Given the description of an element on the screen output the (x, y) to click on. 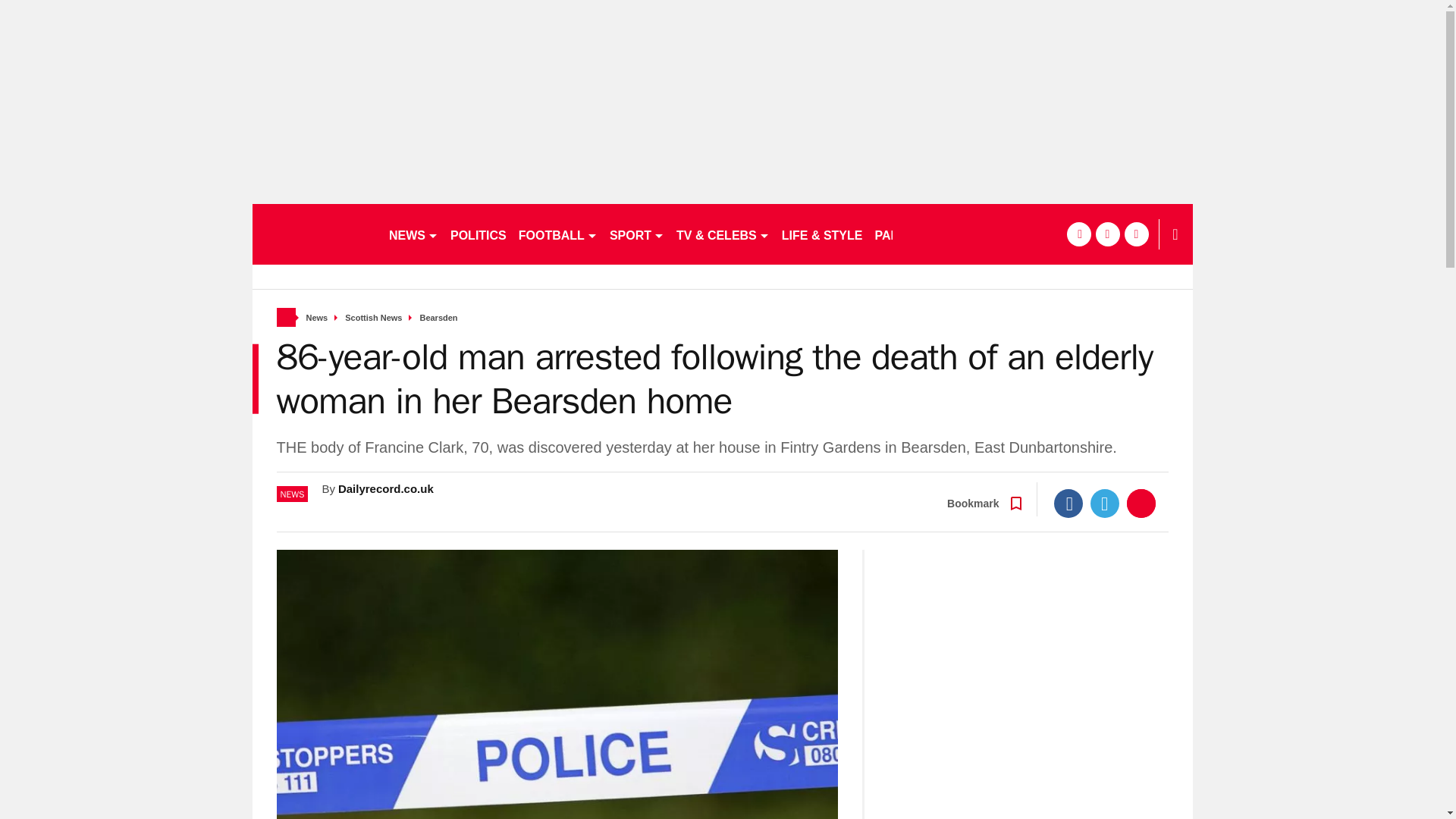
Twitter (1104, 502)
facebook (1077, 233)
dailyrecord (313, 233)
Facebook (1068, 502)
instagram (1136, 233)
FOOTBALL (558, 233)
POLITICS (478, 233)
SPORT (636, 233)
twitter (1106, 233)
NEWS (413, 233)
